Given the description of an element on the screen output the (x, y) to click on. 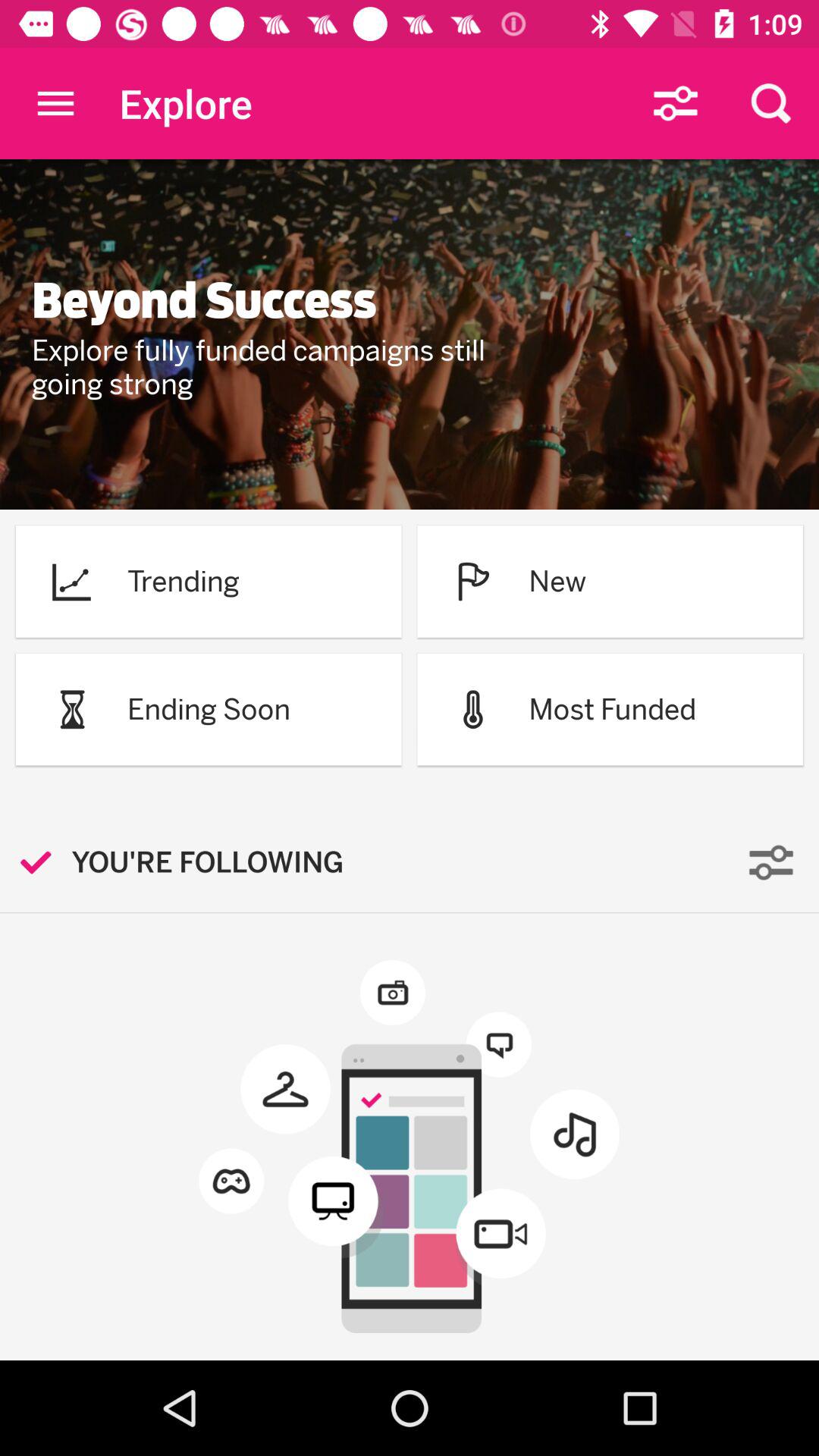
turn off icon to the left of the new (473, 581)
